Given the description of an element on the screen output the (x, y) to click on. 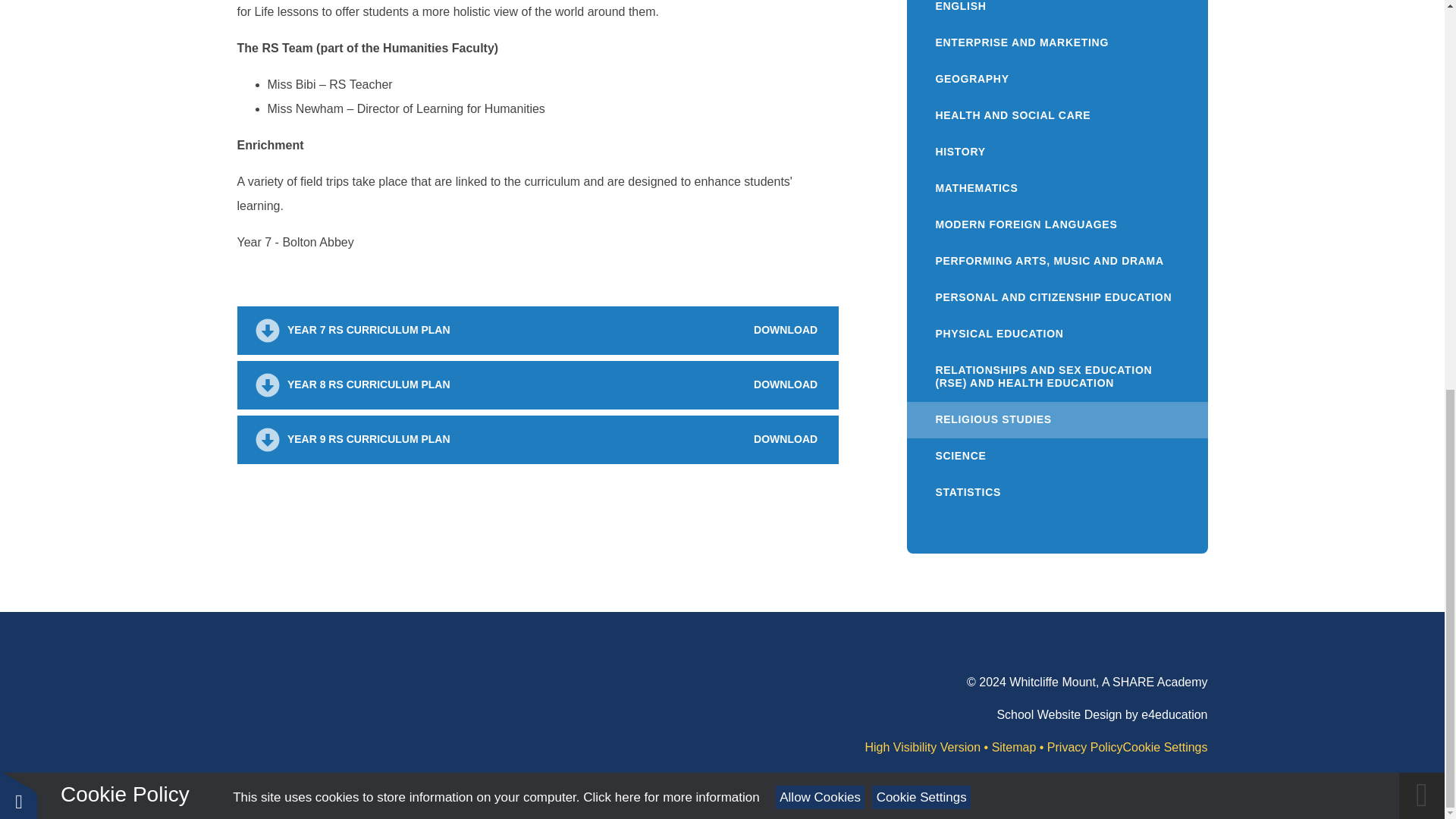
Cookie Settings (1164, 747)
Allow Cookies (820, 56)
See cookie policy (670, 56)
Cookie Settings (921, 56)
